Given the description of an element on the screen output the (x, y) to click on. 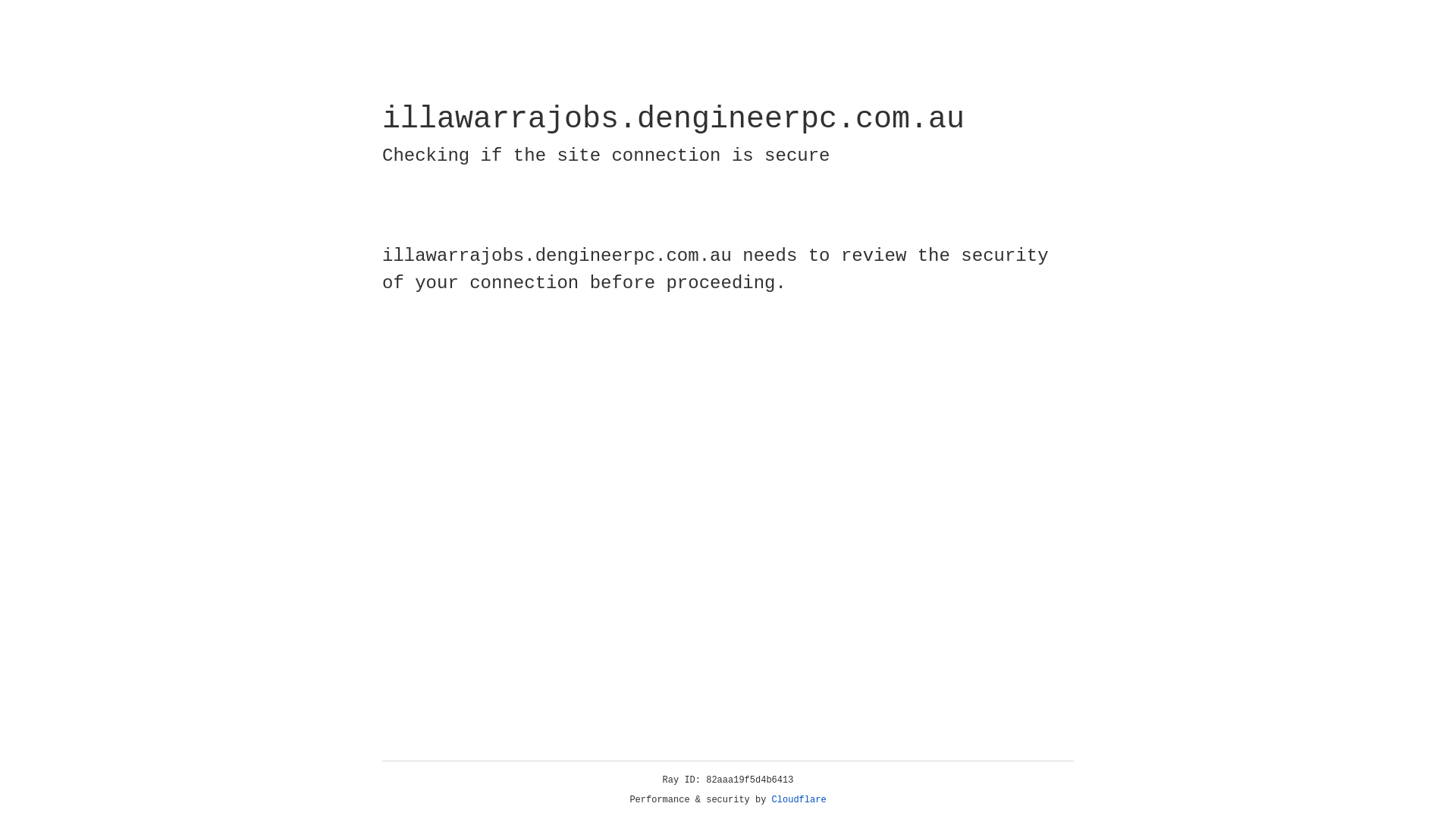
Cloudflare Element type: text (798, 799)
